Given the description of an element on the screen output the (x, y) to click on. 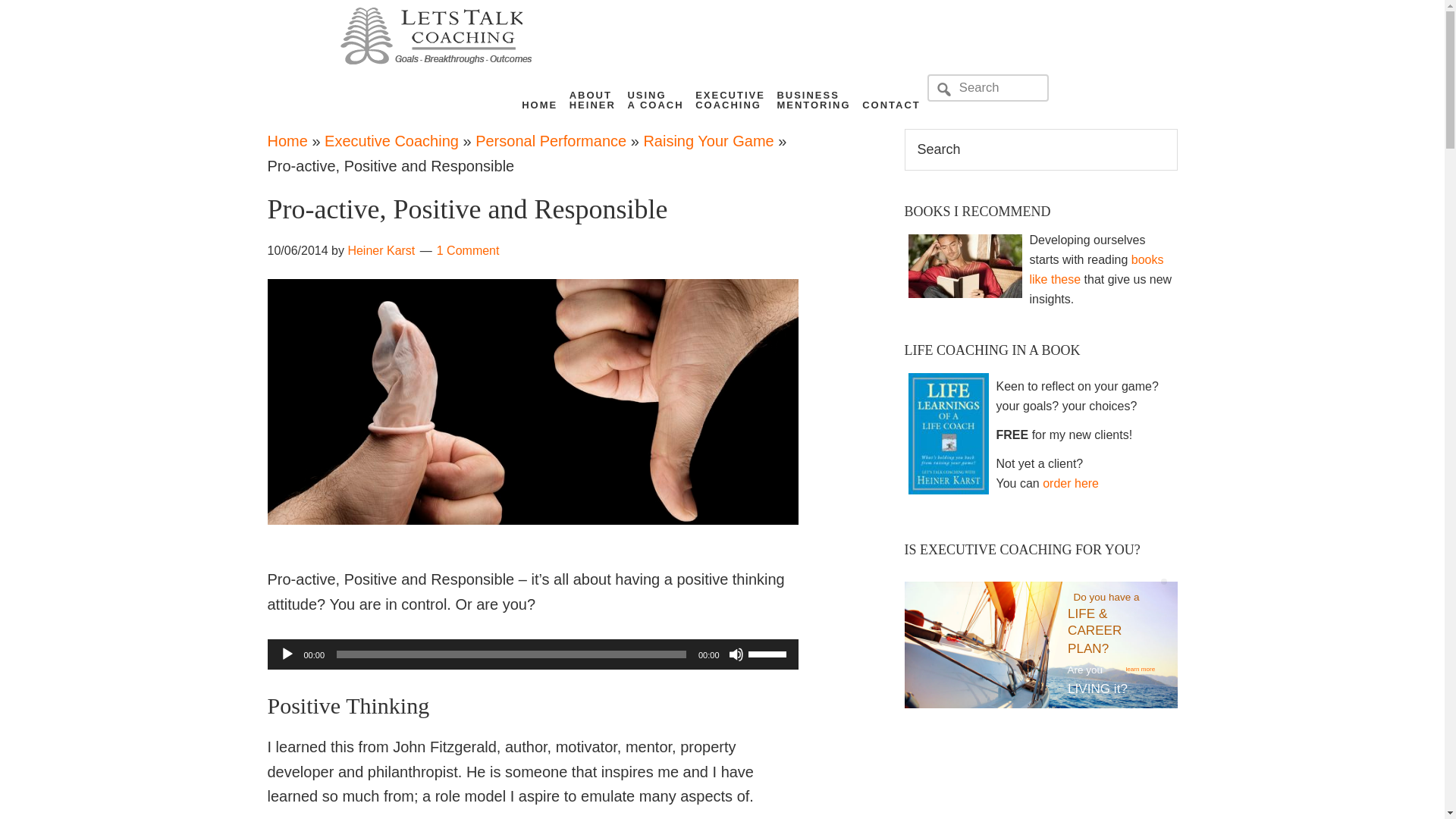
Executive Coaching (593, 96)
Play (391, 140)
letstalkcoaching (286, 654)
CONTACT (729, 96)
Heiner Karst (435, 57)
order here (891, 101)
HOME (380, 250)
Search (1070, 482)
Search (655, 96)
Mute (539, 101)
